Given the description of an element on the screen output the (x, y) to click on. 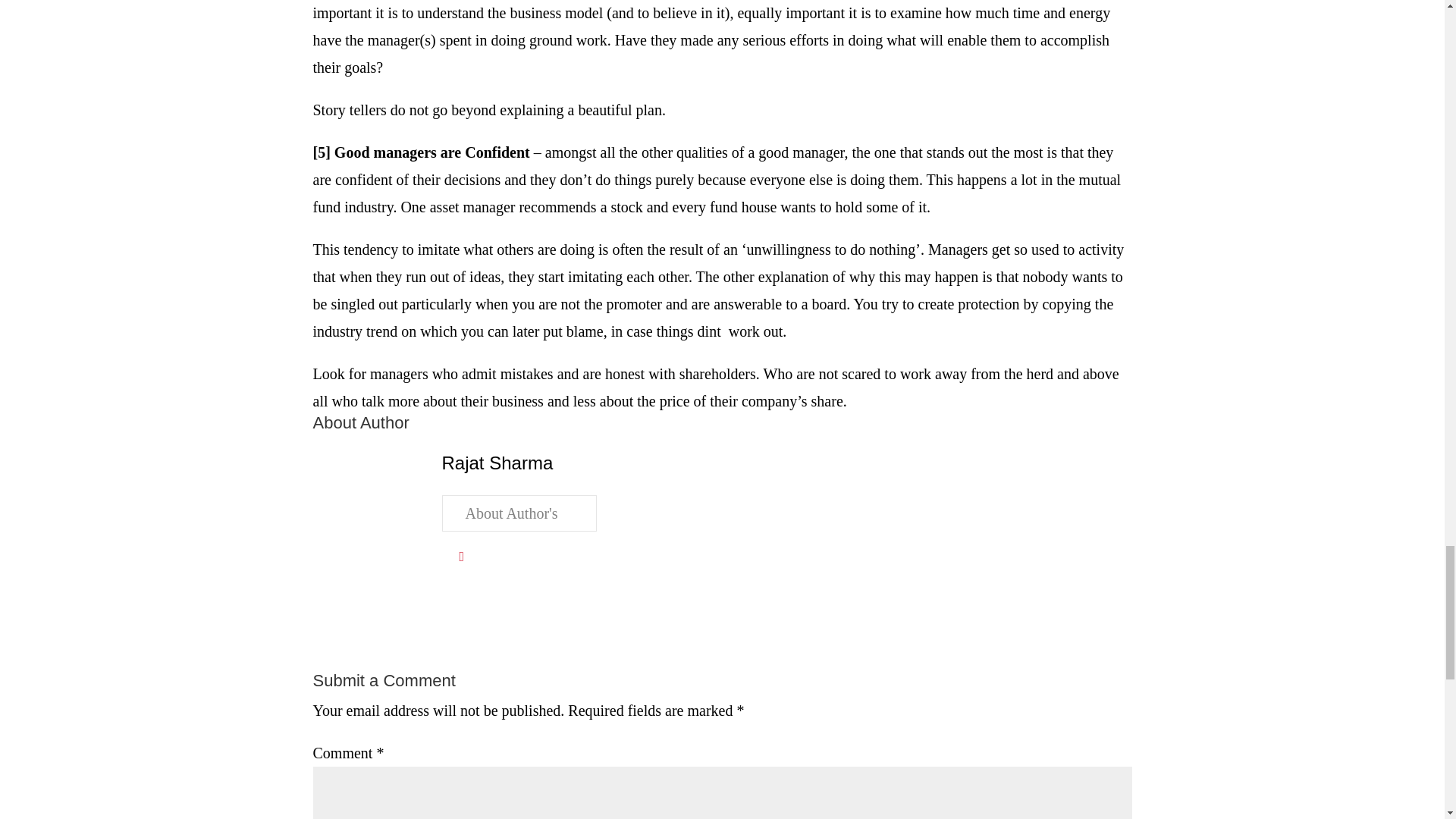
See author's posts (518, 513)
Rajat Sharma (497, 462)
